Given the description of an element on the screen output the (x, y) to click on. 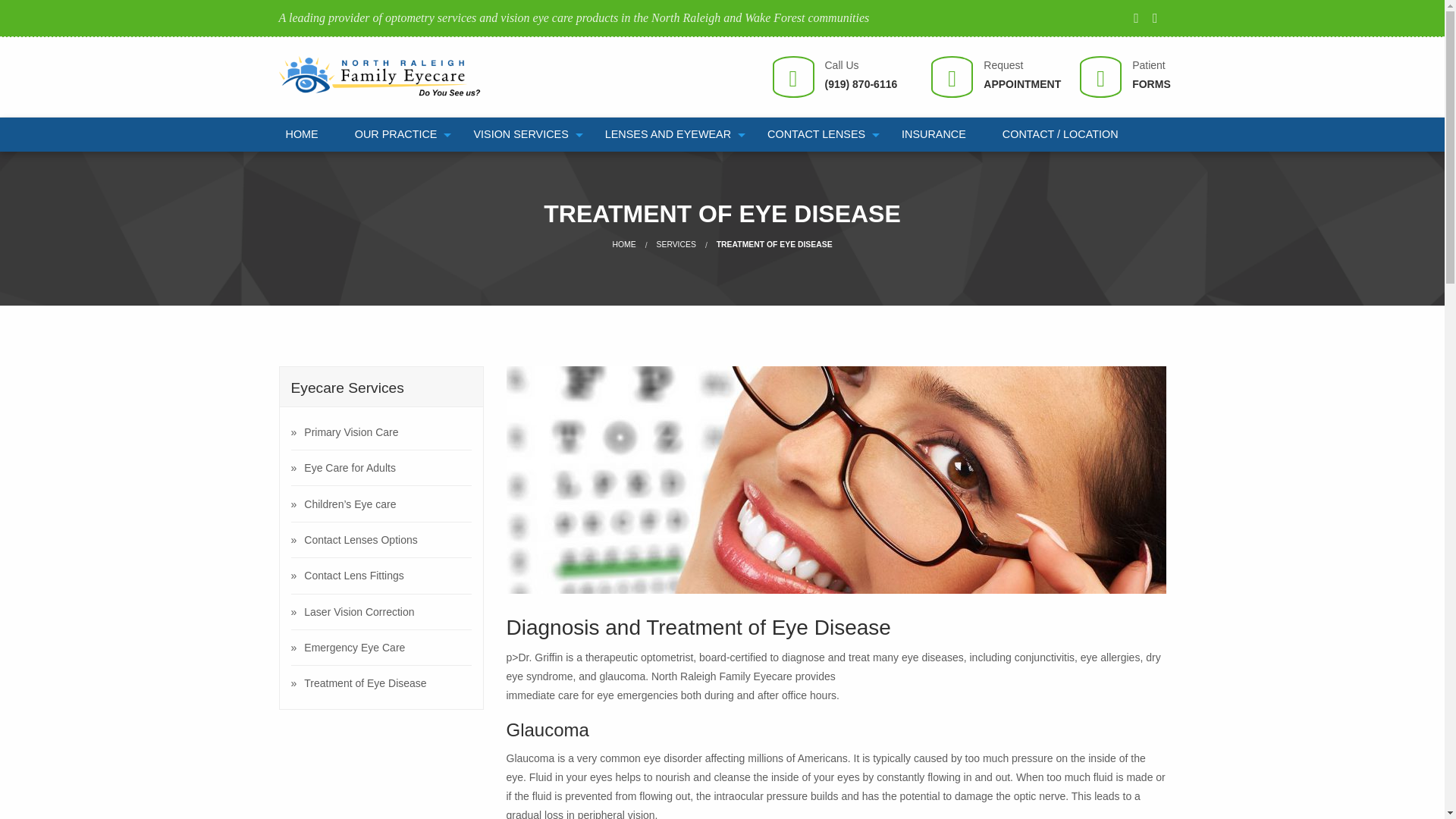
Primary Vision Care (381, 431)
Contact Lens Fittings (381, 574)
Treatment of Eye Disease (381, 682)
VISION SERVICES (520, 134)
LENSES AND EYEWEAR (667, 134)
Emergency Eye Care (381, 646)
Eye Care for Adults (381, 467)
HOME (622, 244)
OUR PRACTICE (395, 134)
Services (675, 244)
APPOINTMENT (1022, 83)
SERVICES (675, 244)
Laser Vision Correction (381, 611)
CONTACT LENSES (816, 134)
Contact Lenses Options (381, 539)
